Given the description of an element on the screen output the (x, y) to click on. 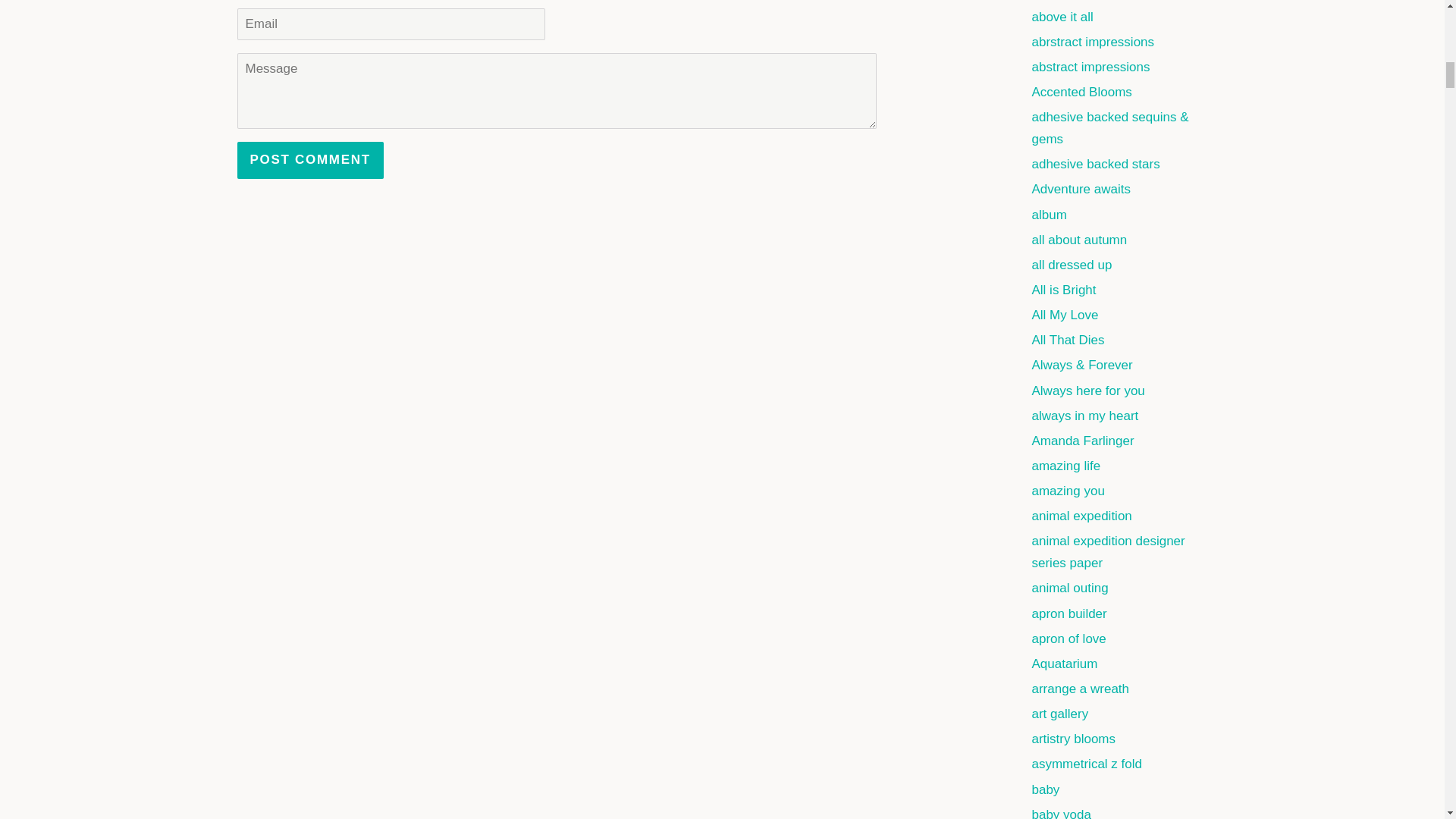
Post comment (308, 160)
